Given the description of an element on the screen output the (x, y) to click on. 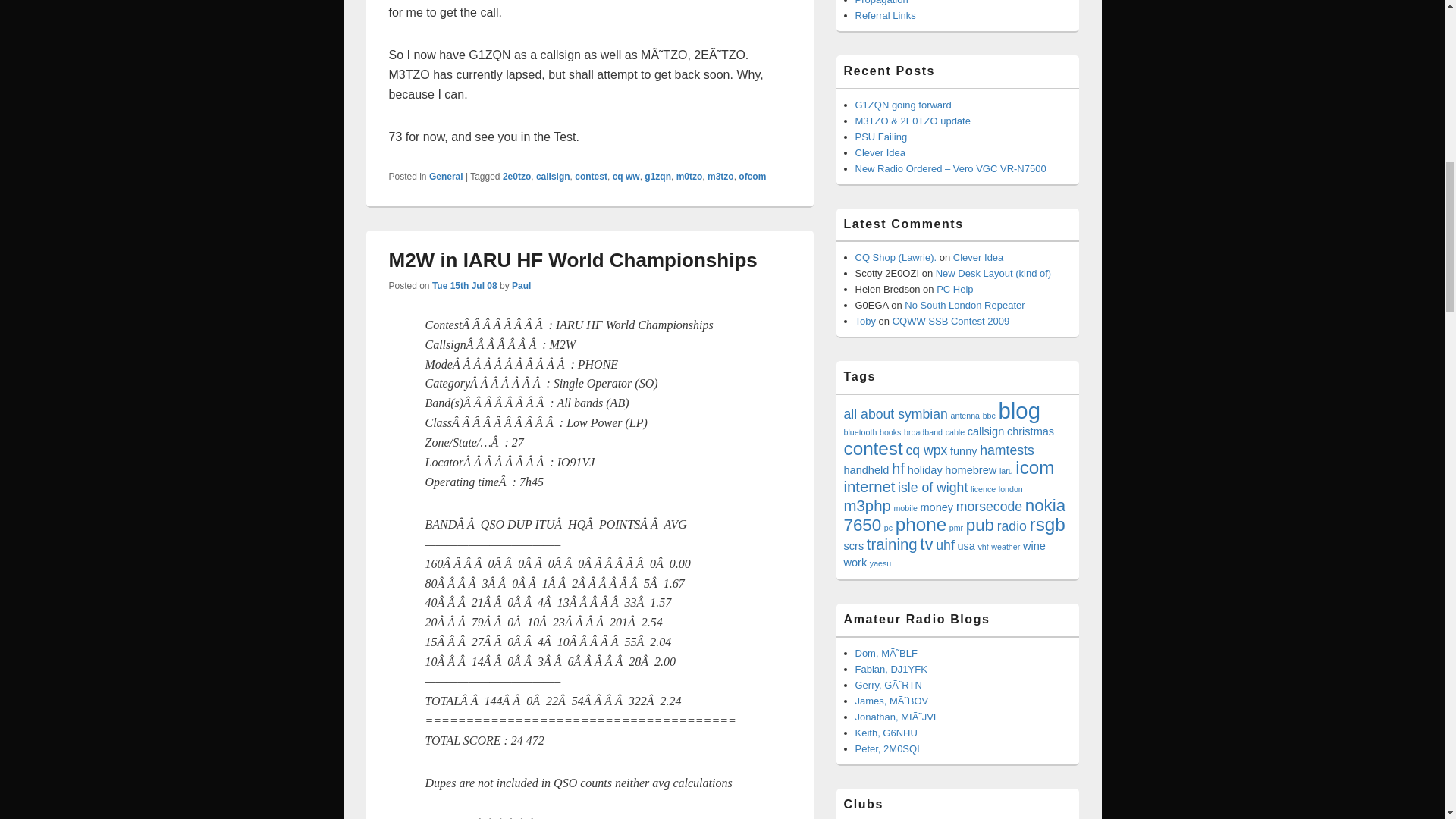
g1zqn (658, 176)
View all posts by Paul (521, 285)
contest (591, 176)
callsign (552, 176)
ofcom (751, 176)
General (446, 176)
m3tzo (720, 176)
cq ww (626, 176)
m0tzo (690, 176)
Permalink to M2W in IARU HF World Championships (572, 259)
